Given the description of an element on the screen output the (x, y) to click on. 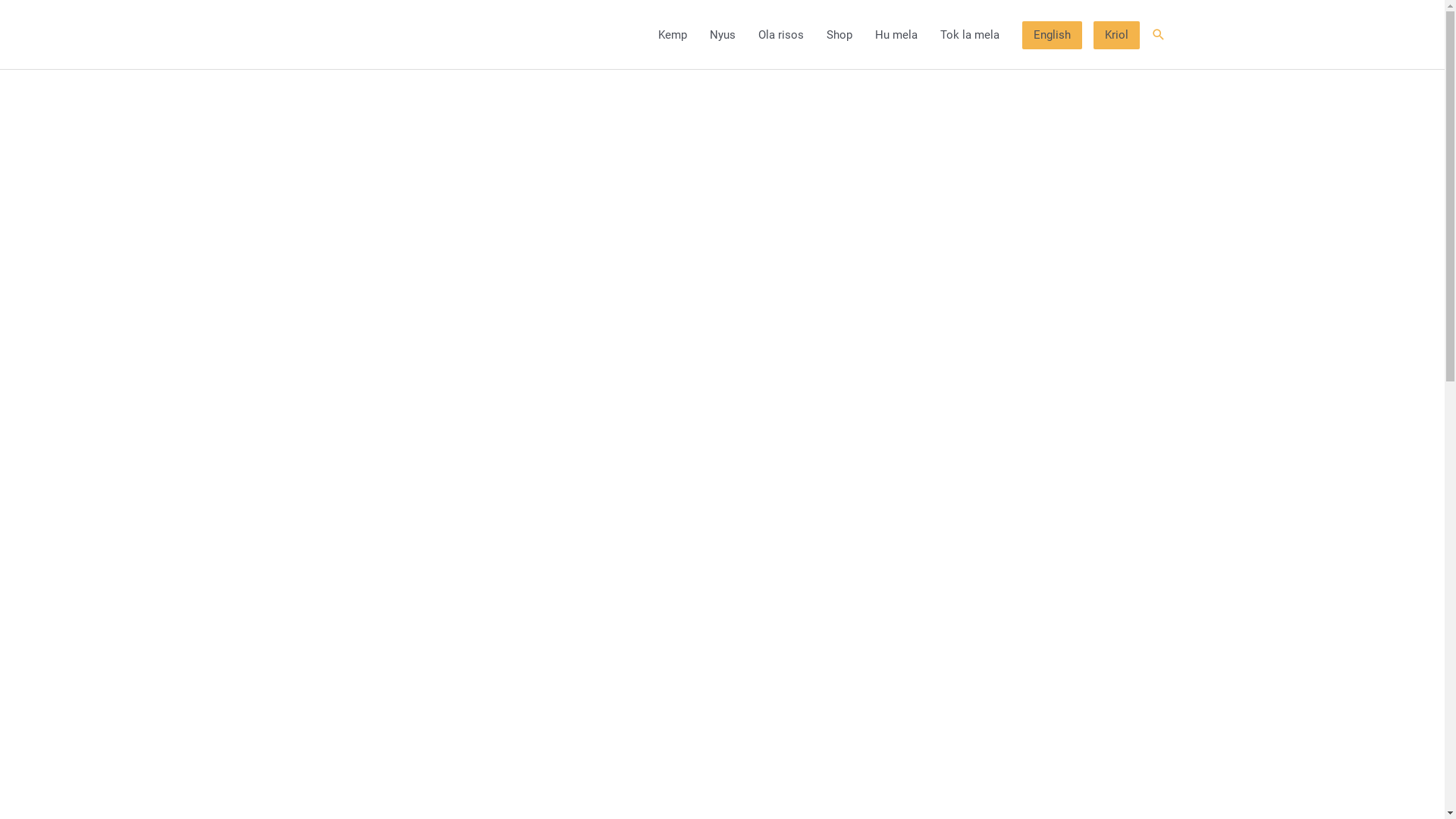
Nyus Element type: text (721, 34)
Tok la mela Element type: text (969, 34)
Ola risos Element type: text (780, 34)
Kriol Element type: text (1116, 35)
English Element type: text (1052, 35)
Kemp Element type: text (671, 34)
Lugubat Element type: text (1158, 34)
Hu mela Element type: text (895, 34)
Shop Element type: text (838, 34)
